Given the description of an element on the screen output the (x, y) to click on. 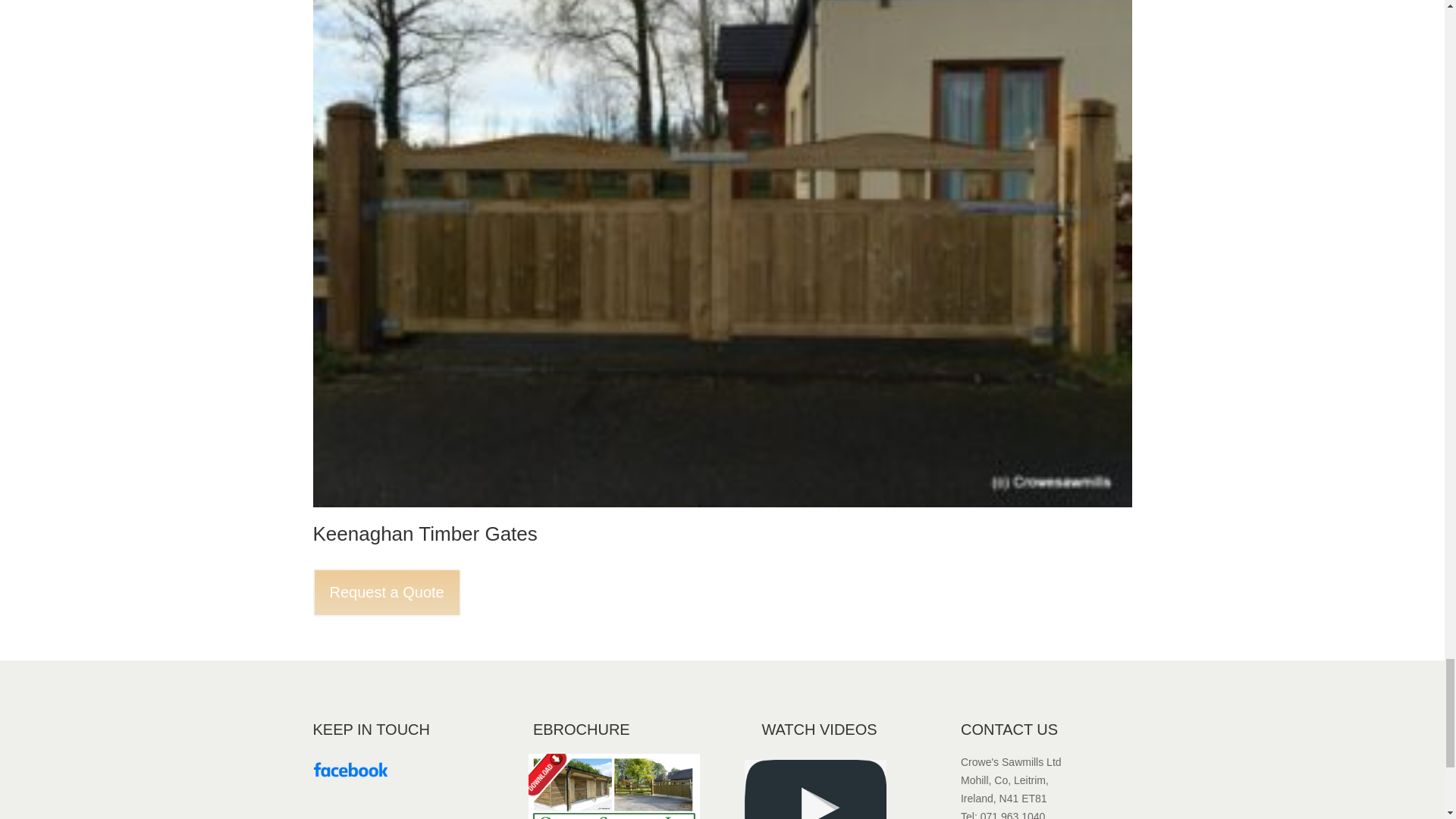
brochure-download (613, 786)
video icon (814, 789)
twitter (350, 769)
